Given the description of an element on the screen output the (x, y) to click on. 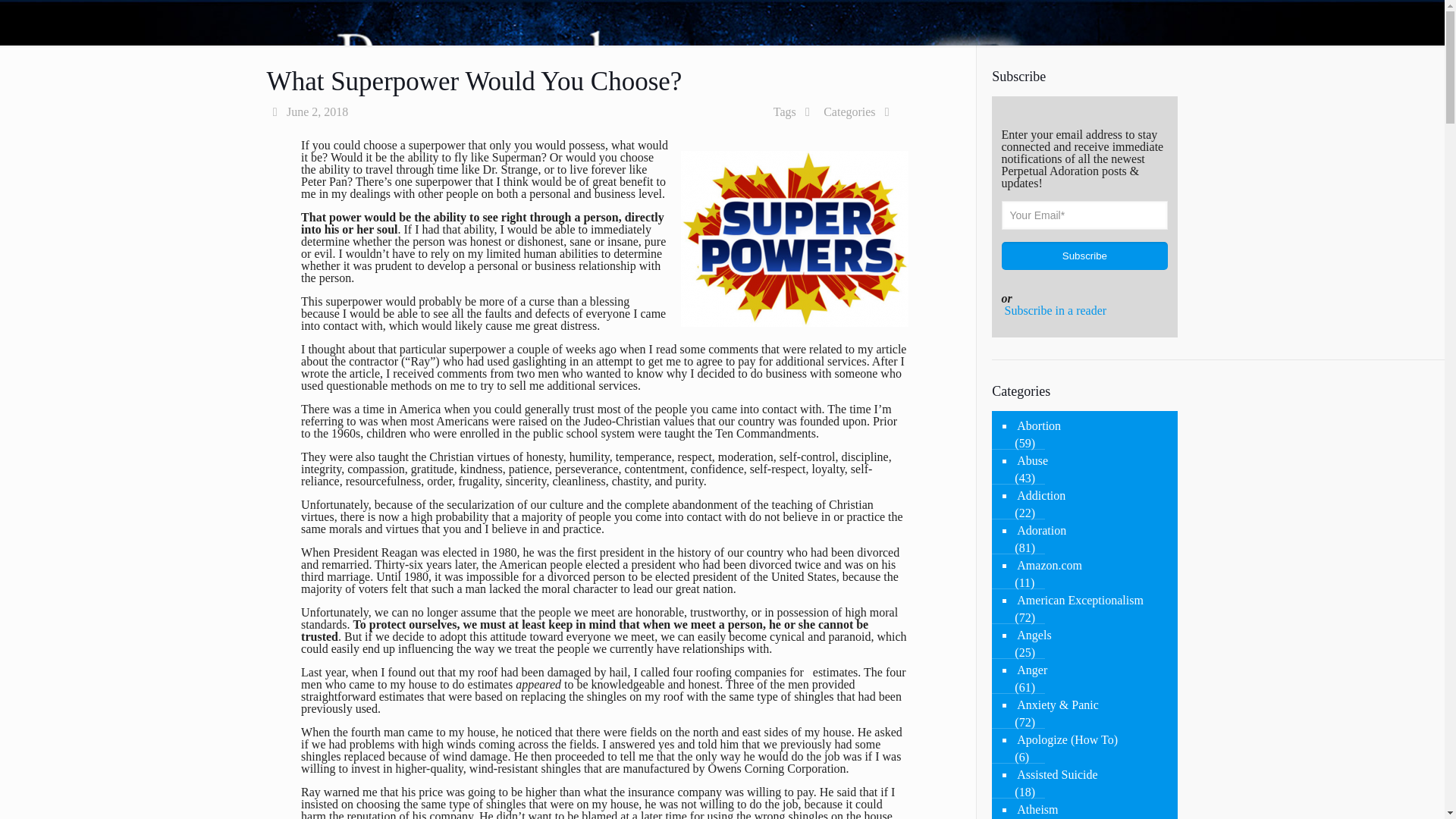
Subscribe (1085, 255)
